Given the description of an element on the screen output the (x, y) to click on. 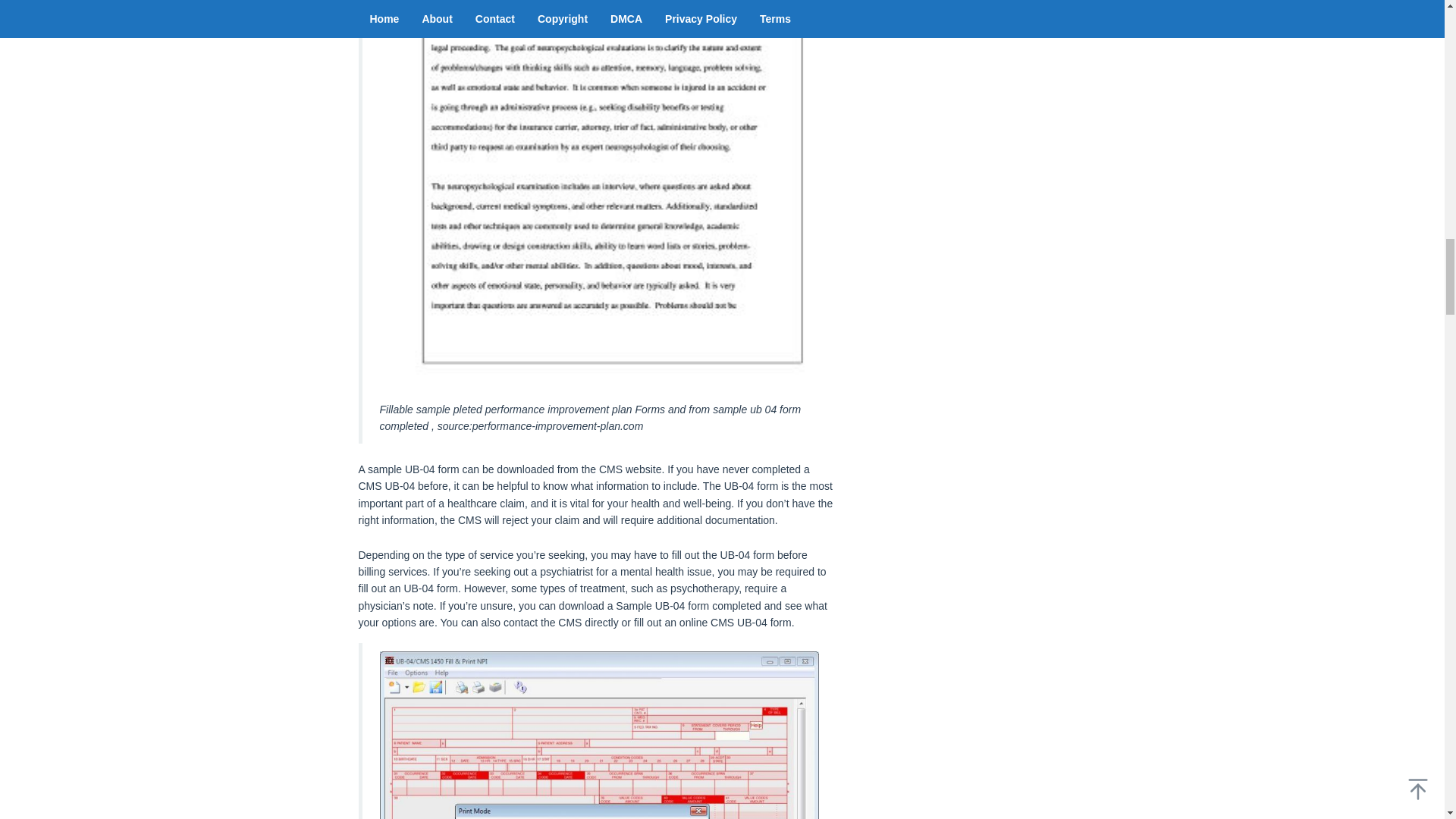
Ub92 Claim form Ub 04 Fill Print software (598, 735)
